Given the description of an element on the screen output the (x, y) to click on. 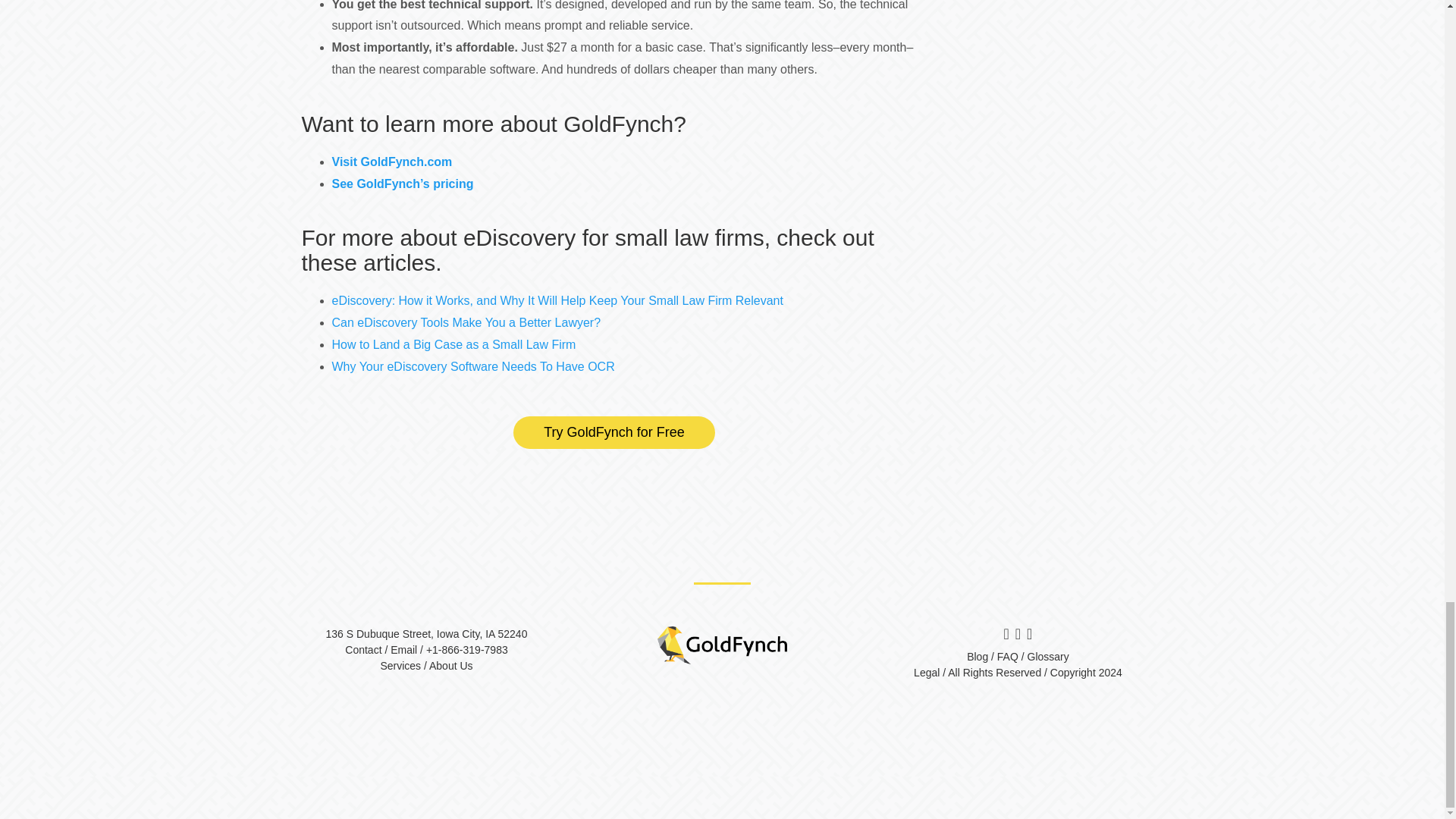
How to Land a Big Case as a Small Law Firm (453, 344)
Why Your eDiscovery Software Needs To Have OCR (472, 366)
Visit GoldFynch.com (391, 161)
Try GoldFynch for Free (613, 432)
Try GoldFynch for Free (613, 432)
Can eDiscovery Tools Make You a Better Lawyer? (466, 322)
